Given the description of an element on the screen output the (x, y) to click on. 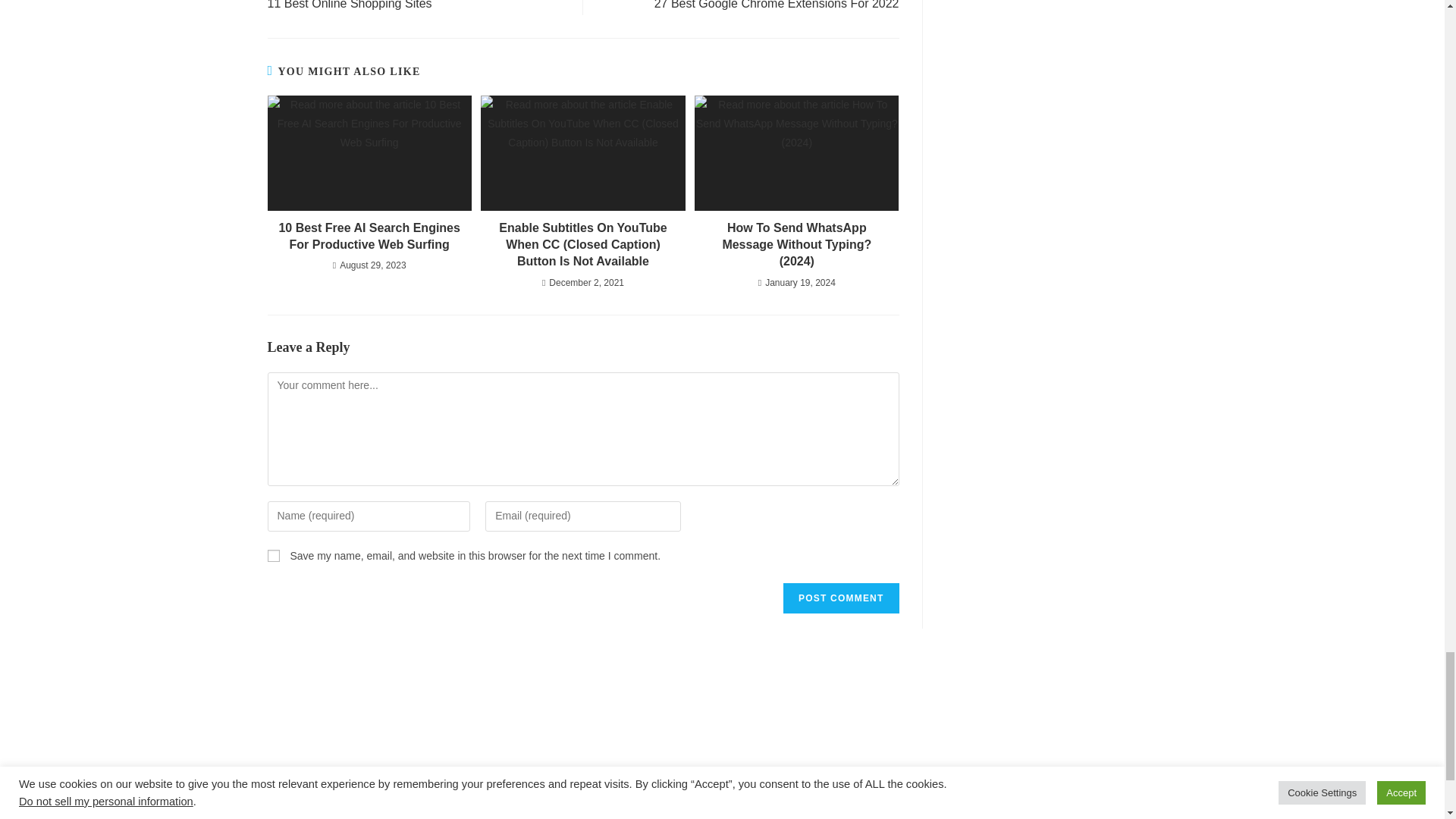
Post Comment (840, 598)
yes (272, 555)
